Given the description of an element on the screen output the (x, y) to click on. 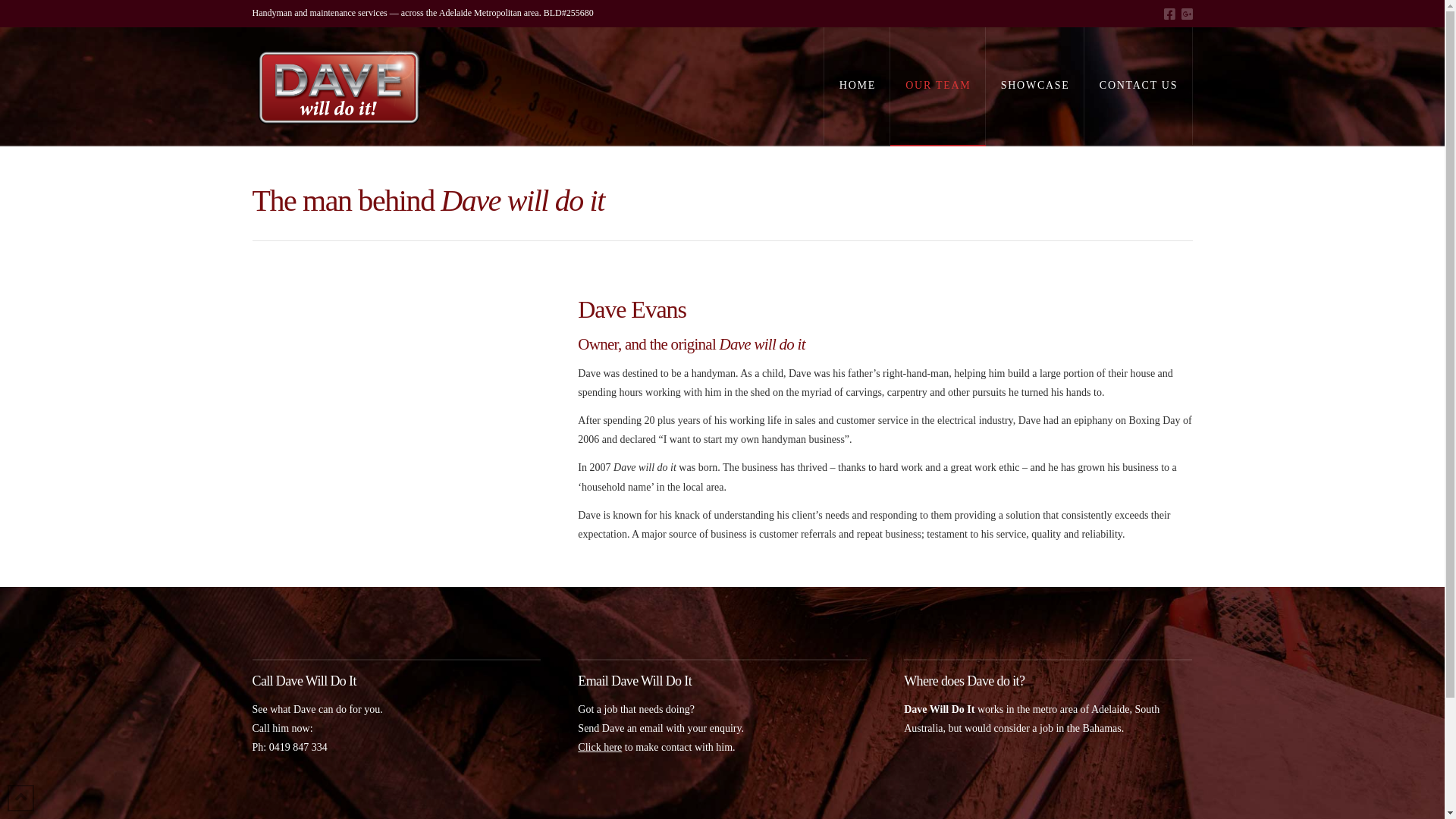
Google+ Element type: hover (1186, 13)
CONTACT US Element type: text (1138, 85)
HOME Element type: text (856, 85)
Click here Element type: text (599, 747)
Back to Top Element type: hover (20, 797)
SHOWCASE Element type: text (1034, 85)
Facebook Element type: hover (1168, 13)
OUR TEAM Element type: text (937, 85)
